Given the description of an element on the screen output the (x, y) to click on. 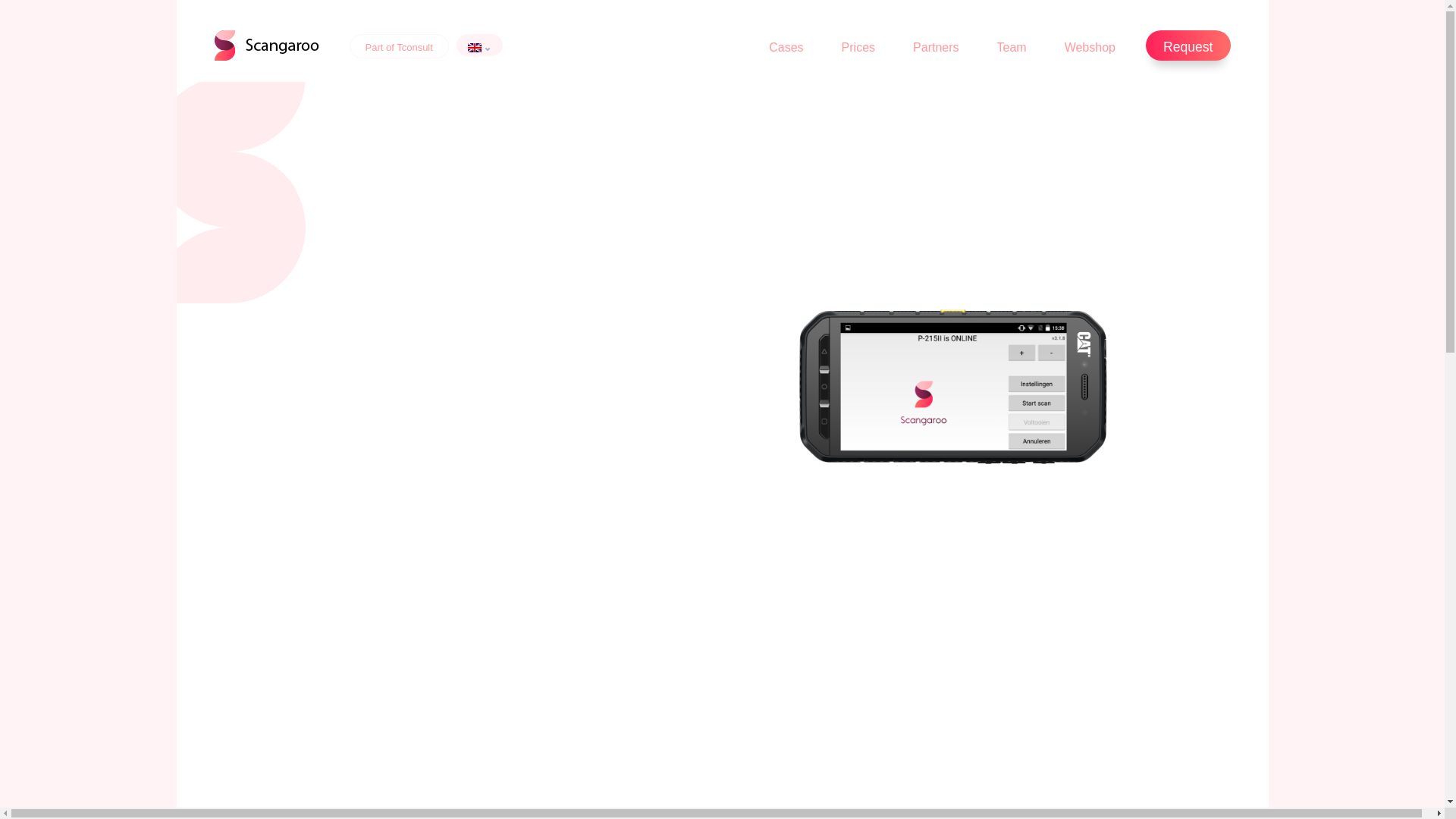
Cases (785, 48)
Prices (858, 48)
Webshop (1089, 48)
Request (1187, 45)
Team (1011, 48)
Partners (935, 48)
Part of Tconsult (398, 46)
